Given the description of an element on the screen output the (x, y) to click on. 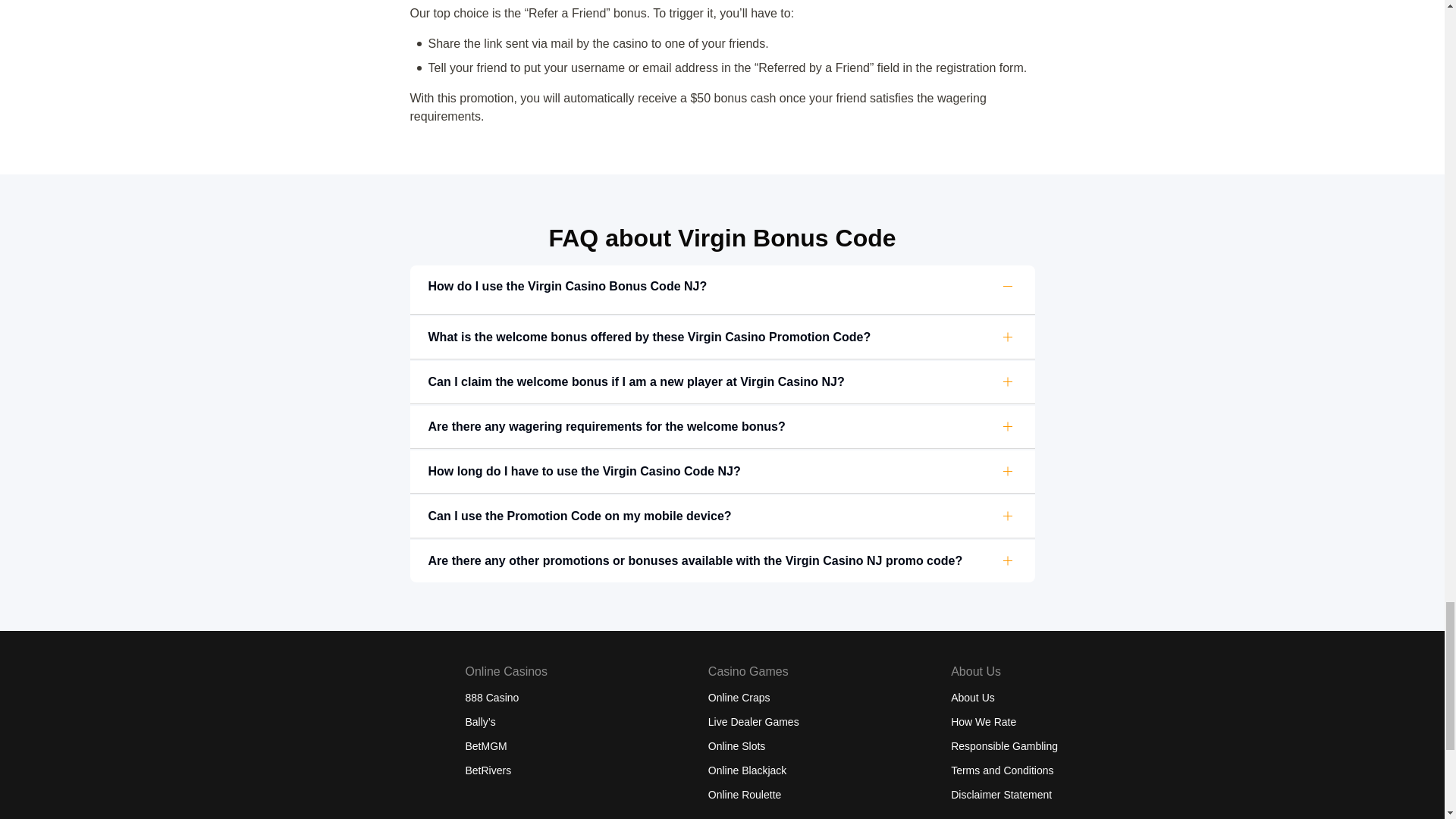
BetMGM (485, 746)
888 Casino (492, 697)
Live Dealer Games (753, 721)
BetRivers (488, 770)
Online Slots (736, 746)
Online Craps (738, 697)
Online Blackjack (747, 770)
